Given the description of an element on the screen output the (x, y) to click on. 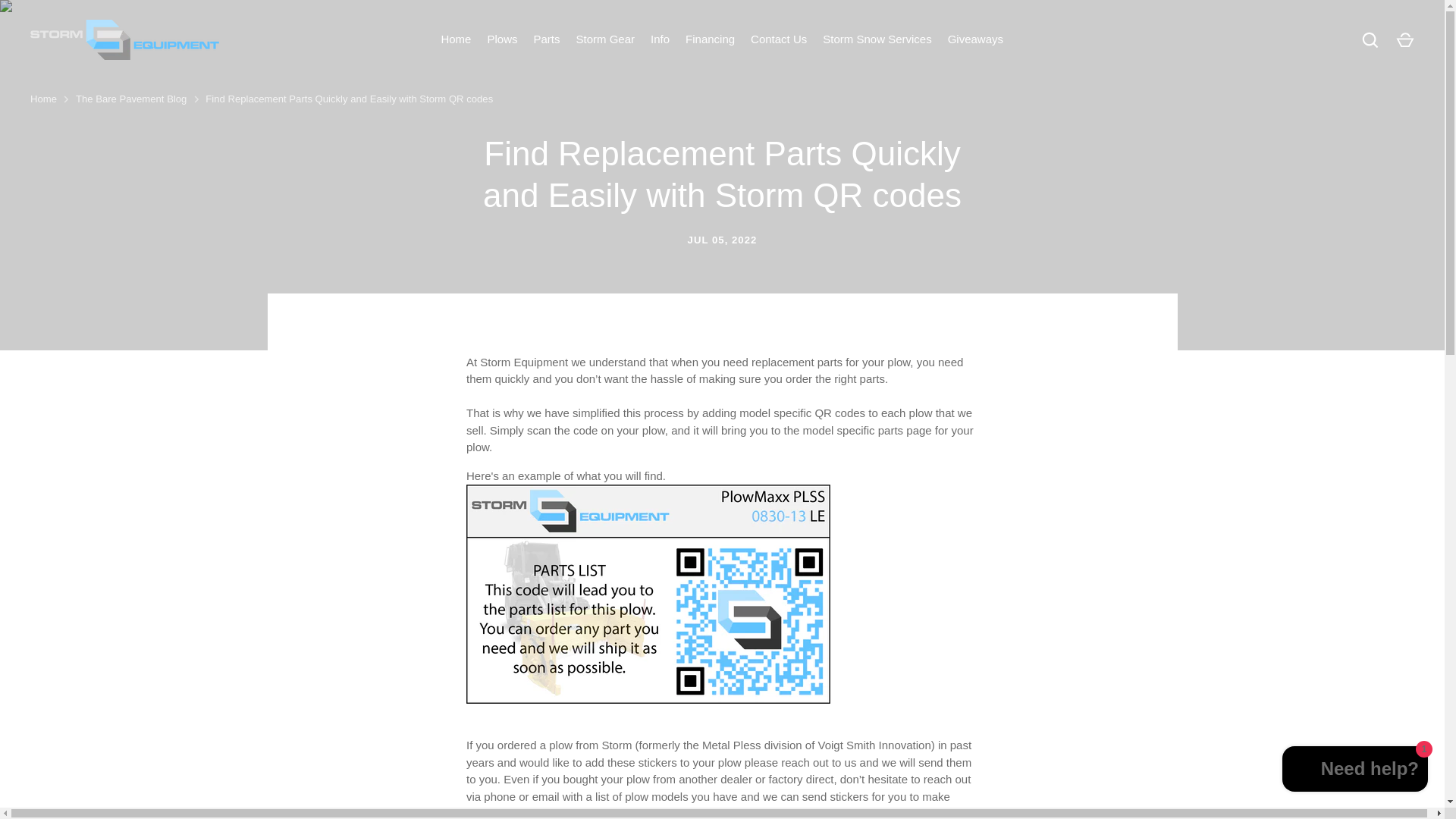
Info (660, 39)
Storm Snow Services (877, 39)
Storm Gear (605, 39)
Plows (502, 39)
Giveaways (974, 39)
Shopify online store chat (1355, 770)
Contact Us (778, 39)
Parts (546, 39)
parts list for 0830-13LE (647, 698)
Financing (710, 39)
Home (455, 39)
